Given the description of an element on the screen output the (x, y) to click on. 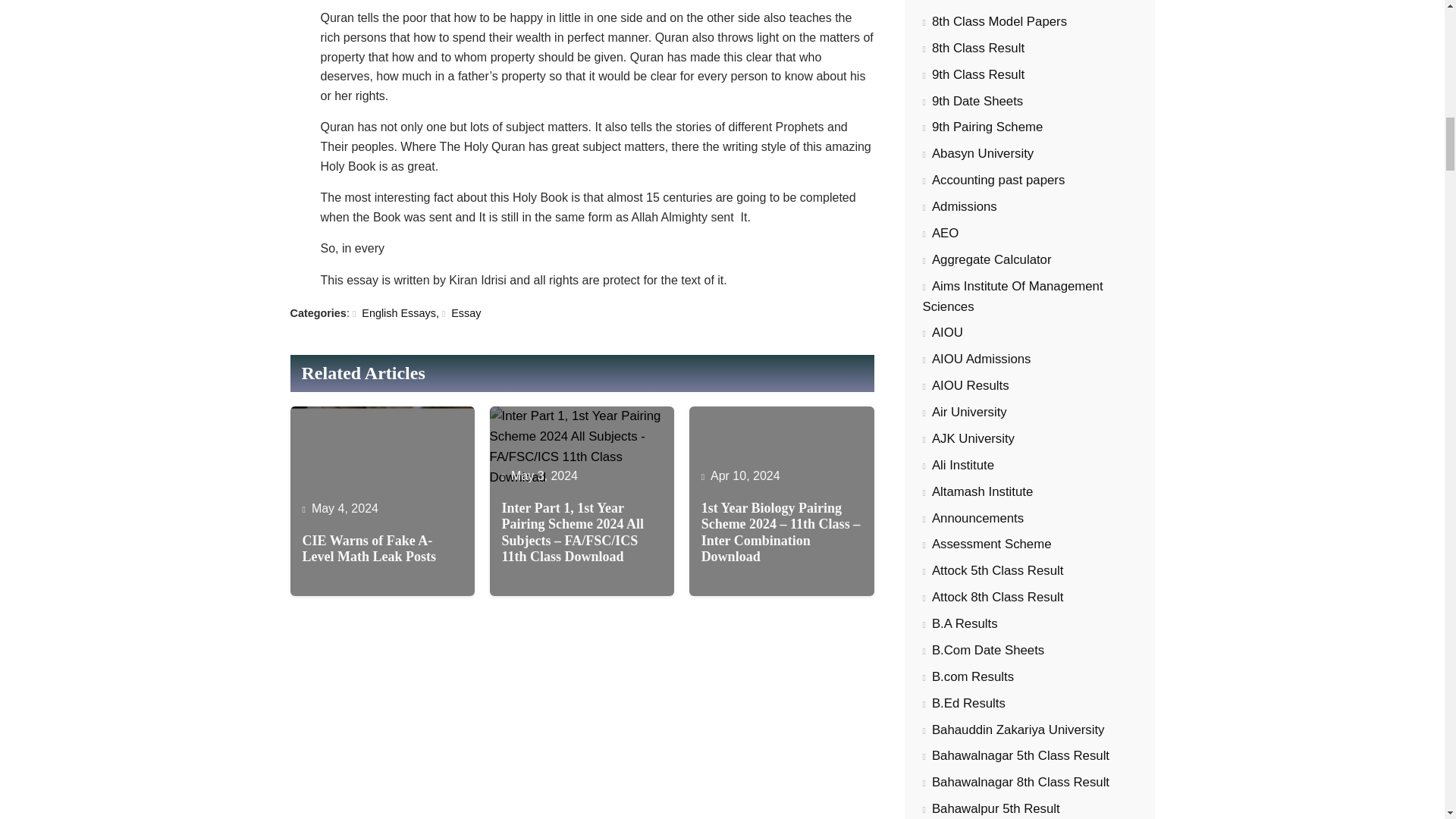
May 4, 2024 (344, 508)
Apr 10, 2024 (745, 475)
English Essays (393, 313)
Essay (461, 313)
CIE Warns of Fake A-Level Math Leak Posts (382, 549)
May 3, 2024 (544, 475)
